Given the description of an element on the screen output the (x, y) to click on. 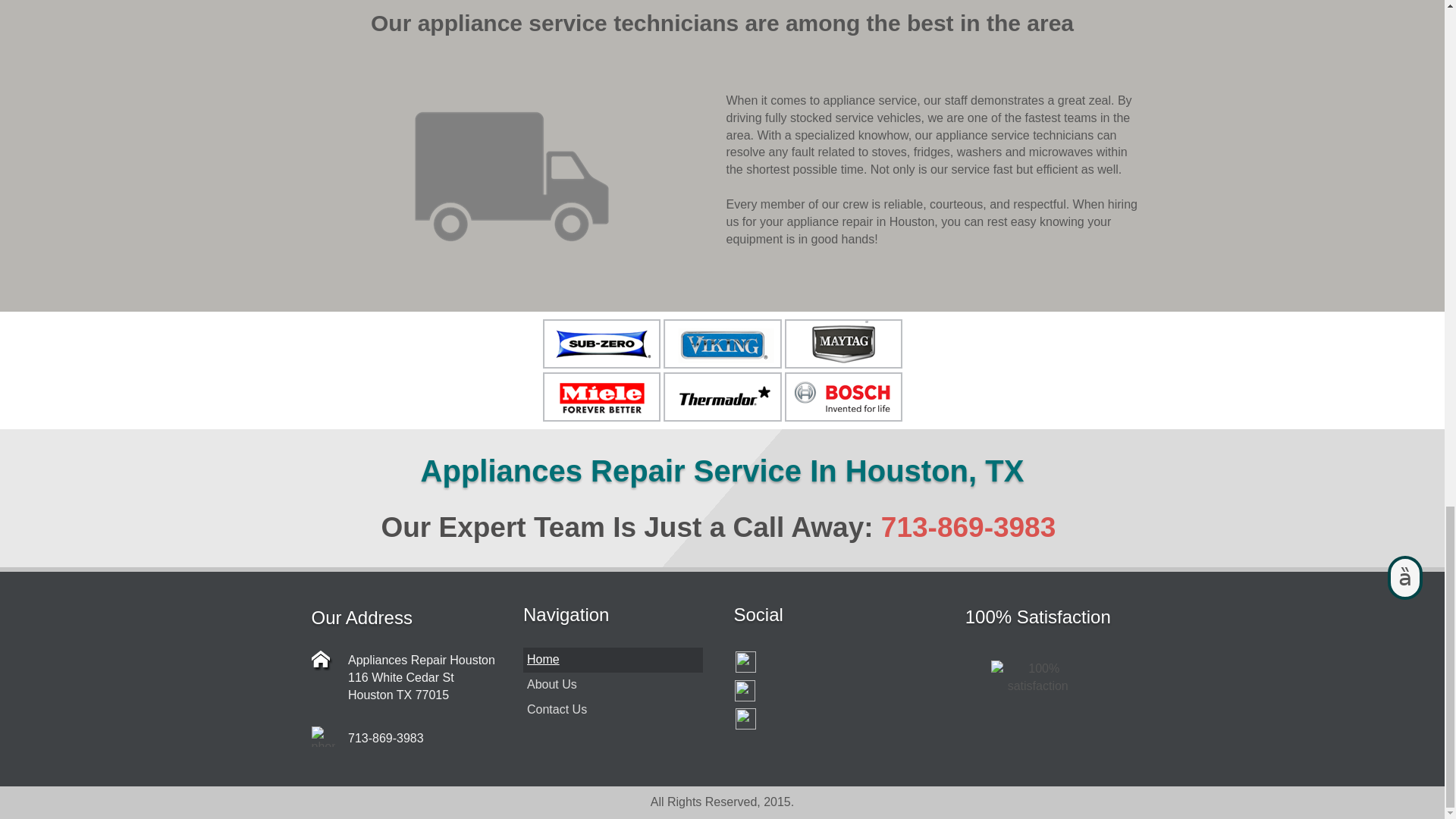
713-869-3983 (967, 526)
About Us (612, 684)
Home (612, 659)
Contact Us (612, 709)
